Given the description of an element on the screen output the (x, y) to click on. 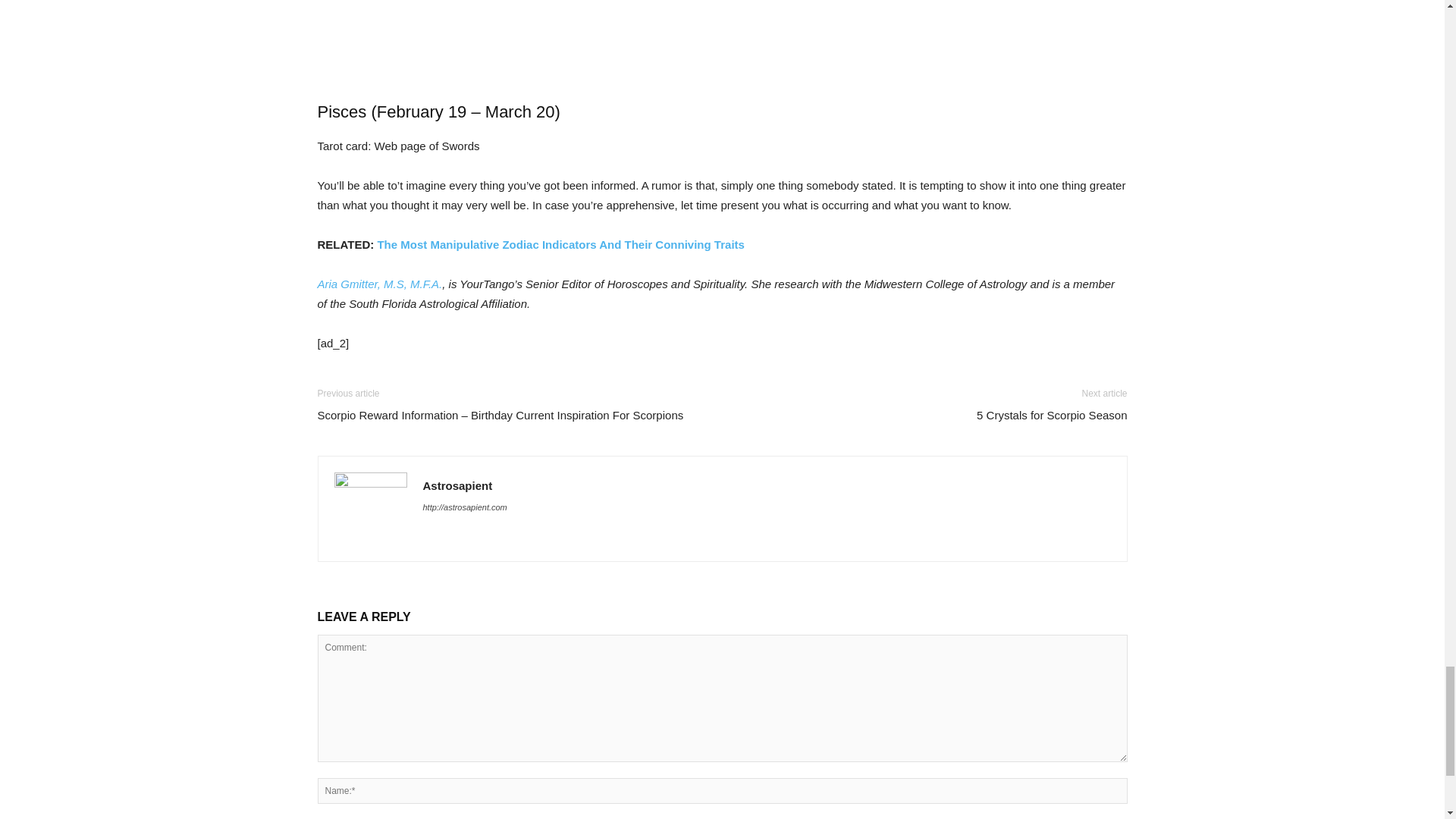
Aria Gmitter, M.S, M.F.A. (379, 283)
5 Crystals for Scorpio Season (1051, 415)
Astrosapient (458, 485)
